Given the description of an element on the screen output the (x, y) to click on. 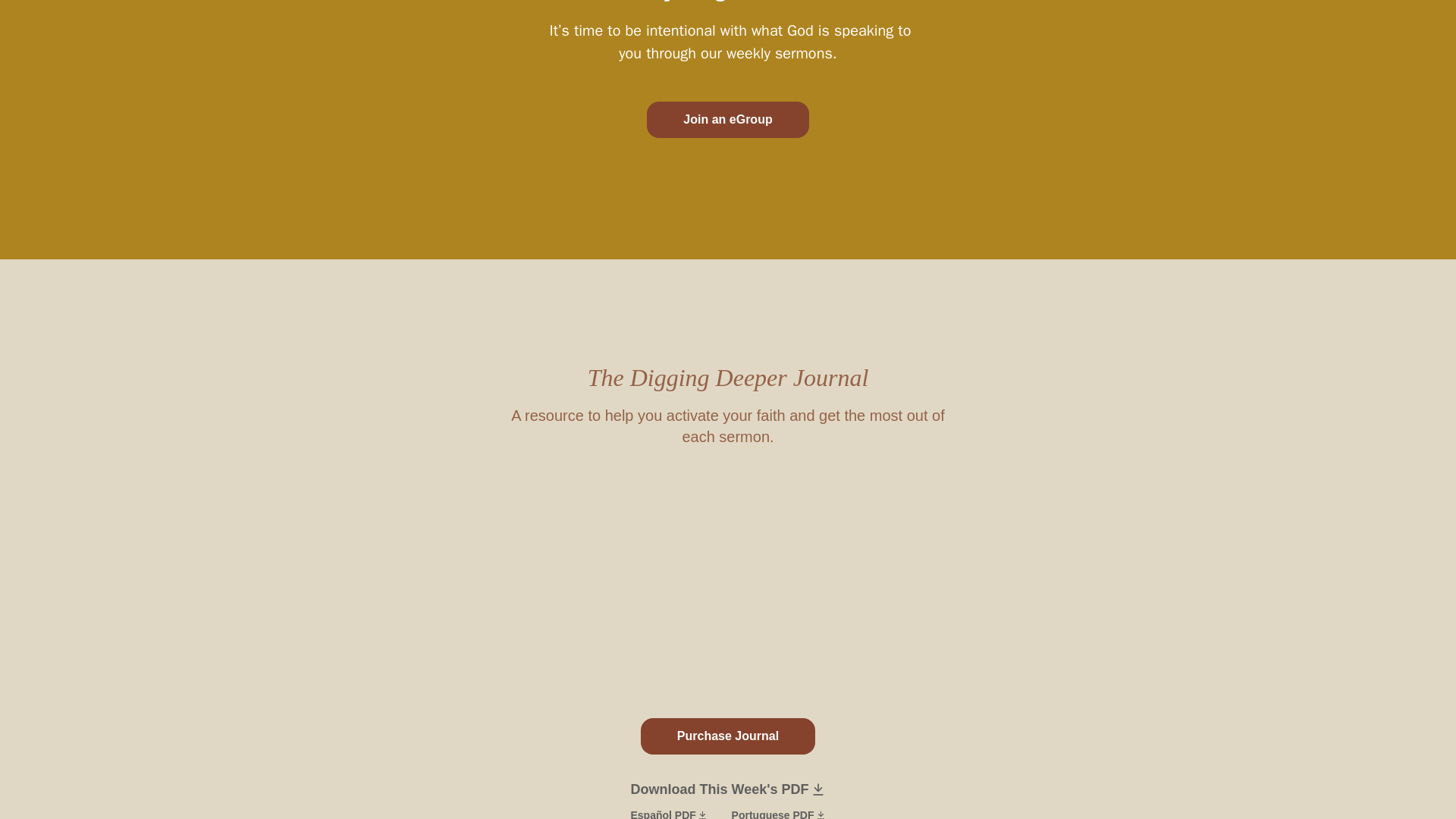
Purchase Journal (727, 736)
Portuguese PDF (778, 813)
Join an eGroup (727, 119)
Download This Week's PDF (727, 789)
